Given the description of an element on the screen output the (x, y) to click on. 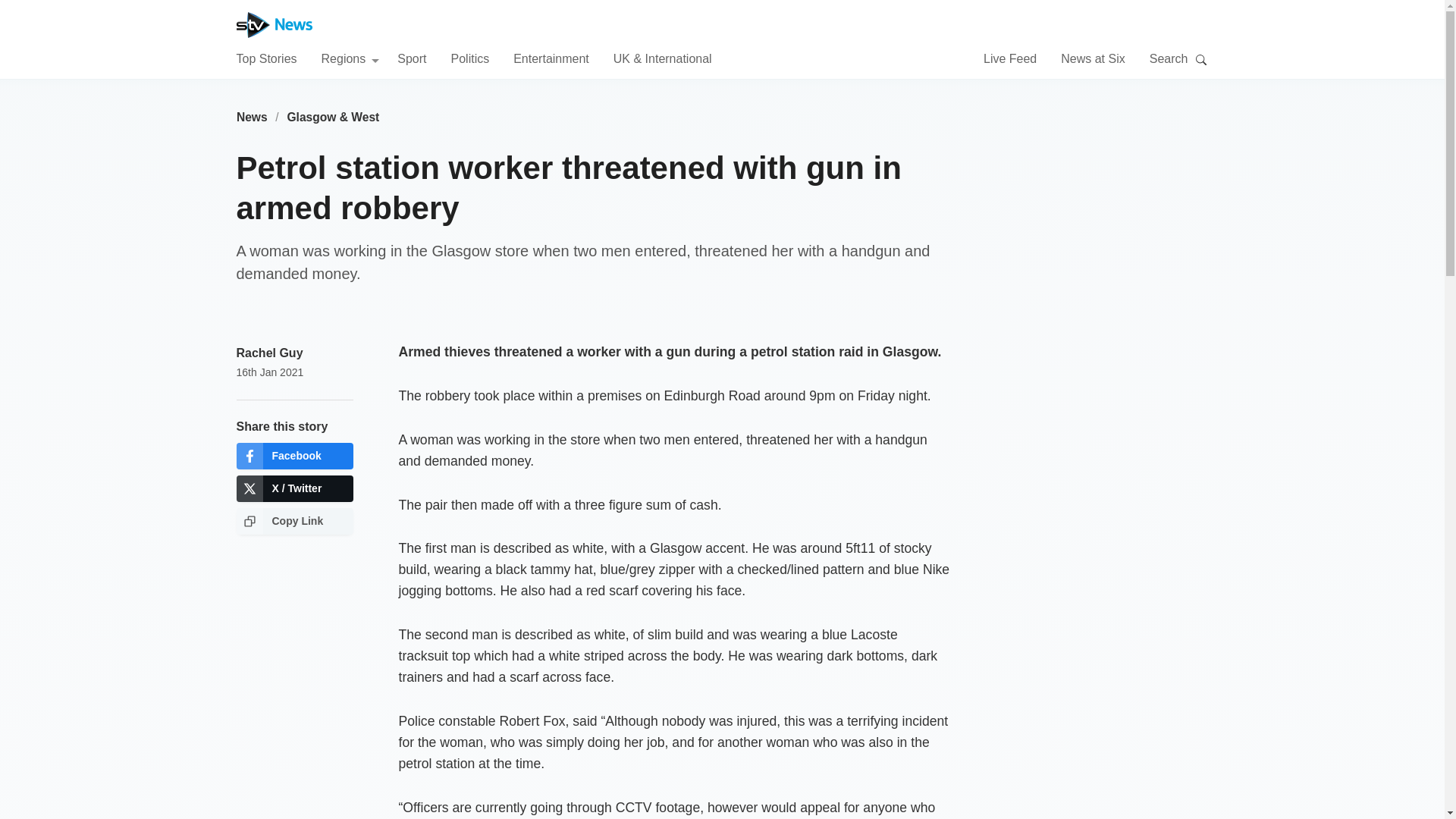
Entertainment (551, 57)
News (252, 116)
Top Stories (266, 57)
News at Six (1092, 57)
Regions (350, 57)
Politics (469, 57)
Facebook (294, 456)
Search (1201, 59)
Rachel Guy (268, 352)
Sport (411, 57)
Live Feed (1010, 57)
